Given the description of an element on the screen output the (x, y) to click on. 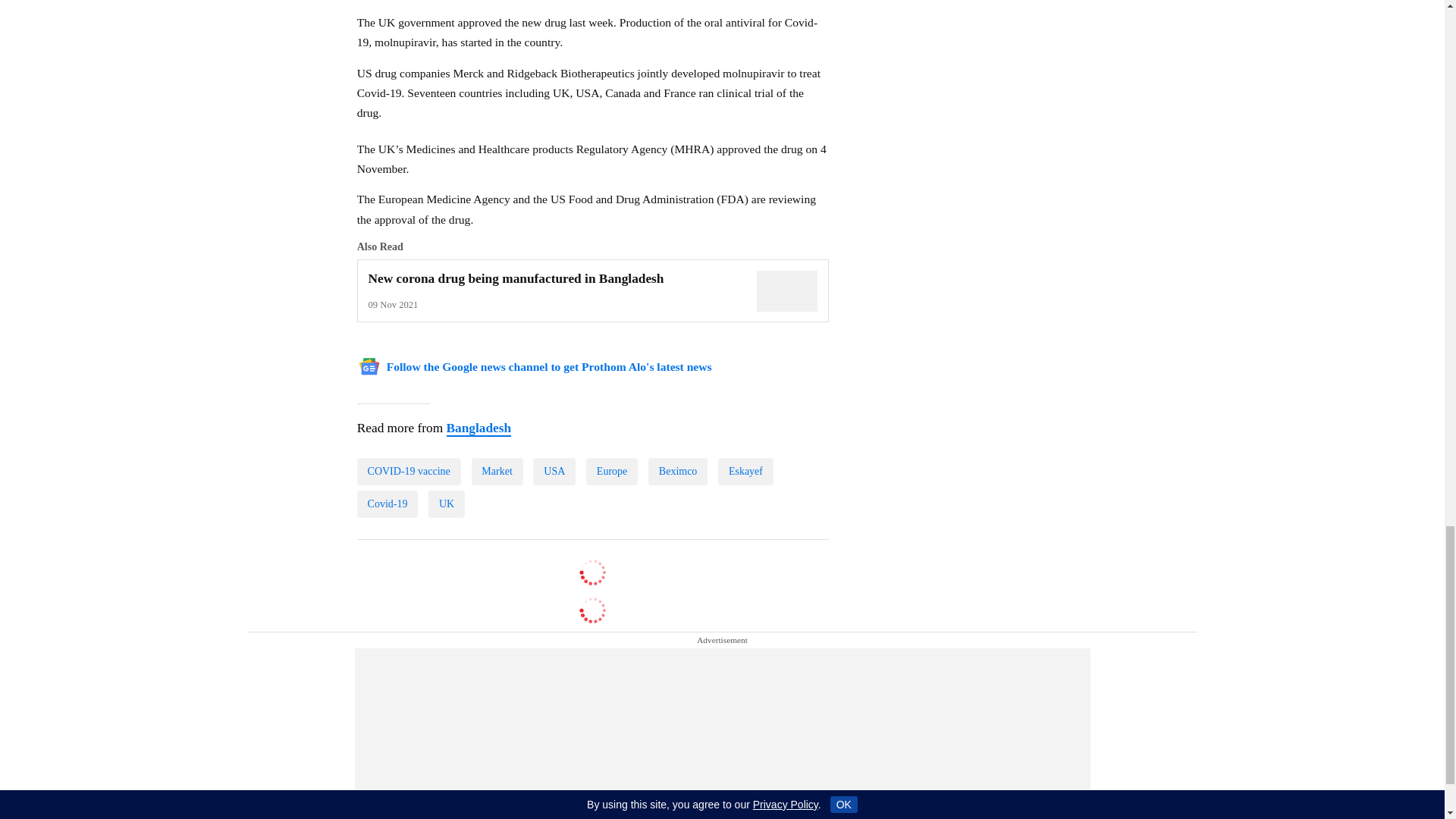
USA (553, 471)
COVID-19 vaccine (408, 471)
Eskayef (745, 471)
Europe (611, 471)
Bangladesh (478, 428)
Market (496, 471)
Beximco (677, 471)
Covid-19 (387, 503)
UK (446, 503)
